Given the description of an element on the screen output the (x, y) to click on. 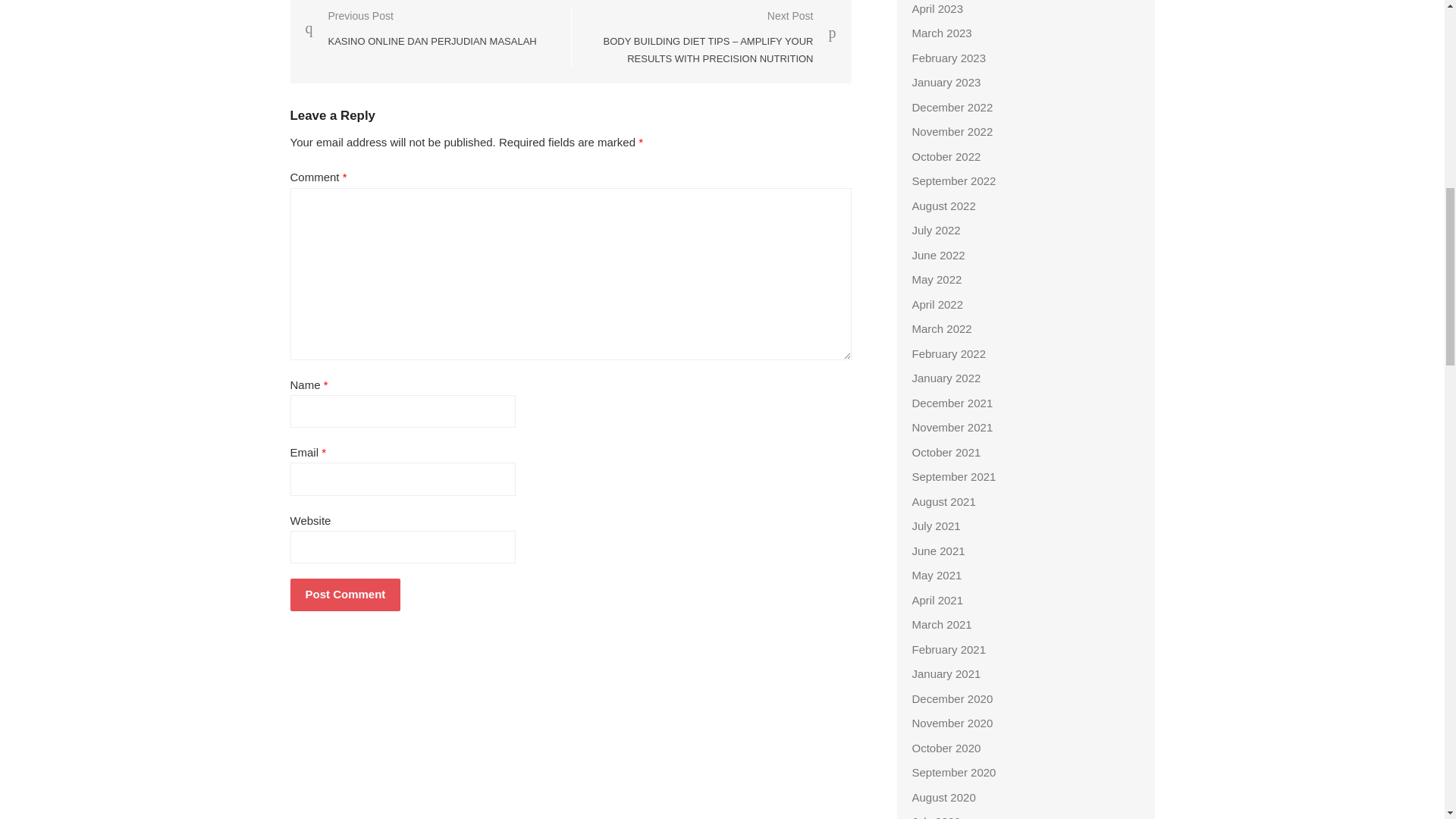
Post Comment (344, 594)
Post Comment (419, 27)
